Given the description of an element on the screen output the (x, y) to click on. 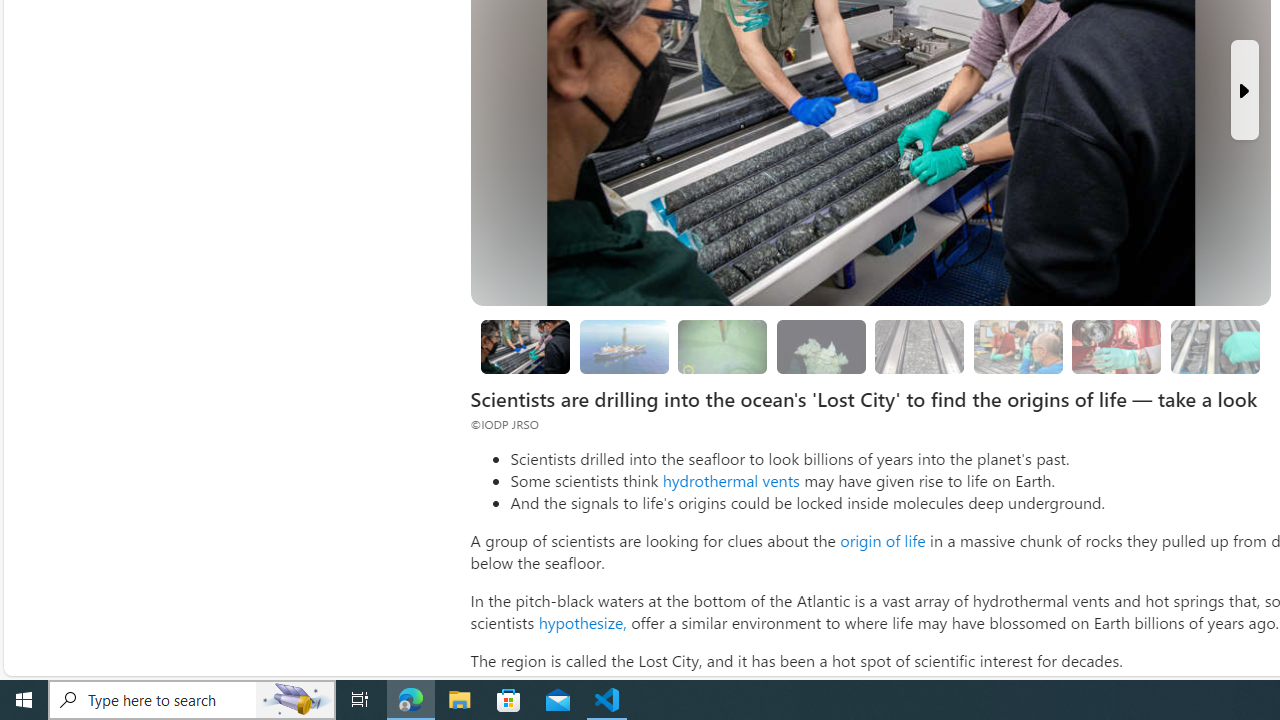
The Lost City could hold clues to the origin of life. (820, 346)
Researchers are still studying the samples (1214, 346)
Looking for evidence of oxygen-free life (1017, 346)
Next Slide (1244, 89)
